Given the description of an element on the screen output the (x, y) to click on. 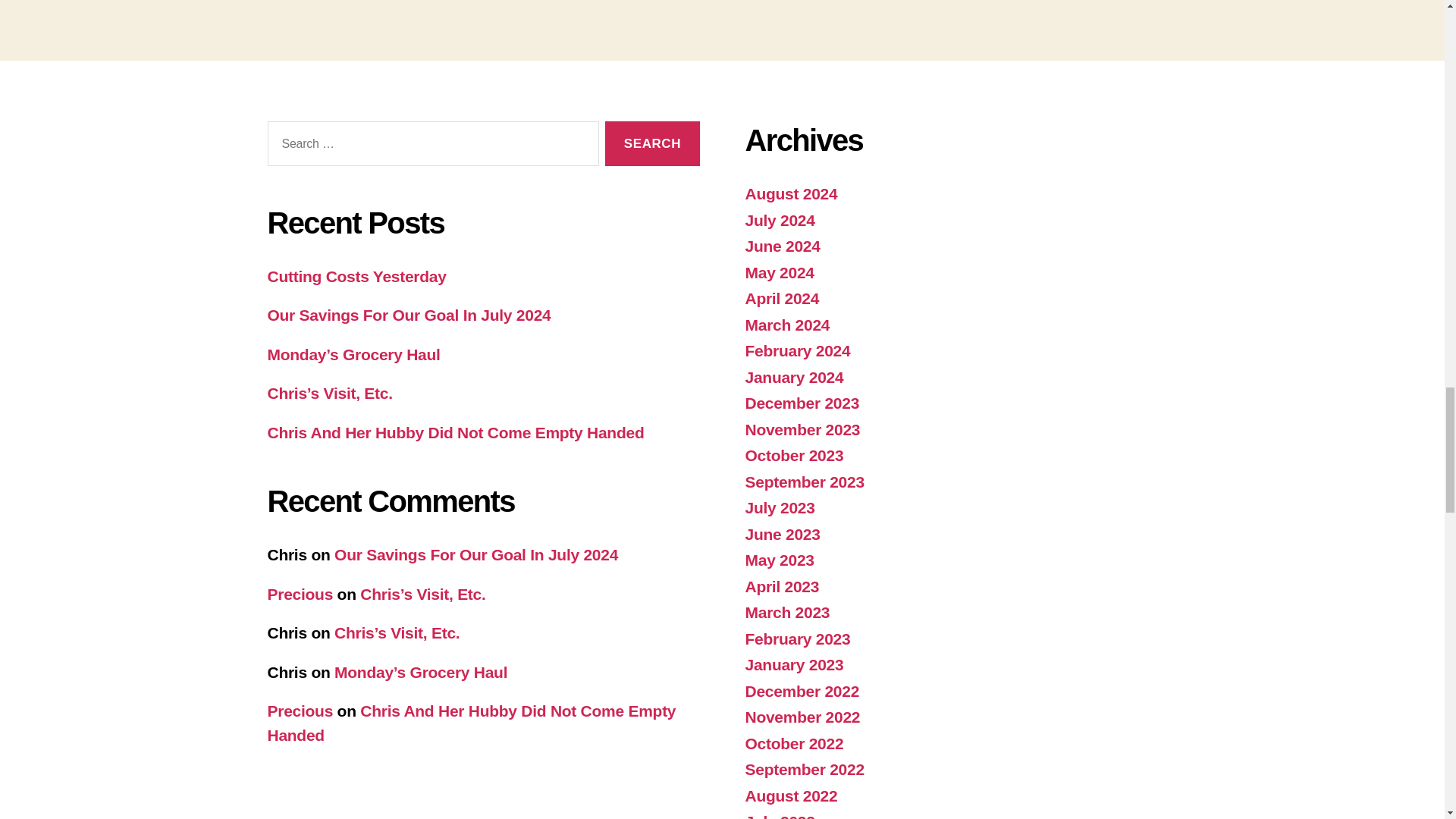
Our Savings For Our Goal In July 2024 (408, 314)
Chris And Her Hubby Did Not Come Empty Handed (454, 432)
Search (651, 143)
Precious (299, 593)
Search (651, 143)
August 2024 (790, 193)
Search (651, 143)
Chris And Her Hubby Did Not Come Empty Handed (470, 722)
Precious (299, 710)
Cutting Costs Yesterday (355, 276)
Our Savings For Our Goal In July 2024 (475, 554)
July 2024 (778, 220)
